Given the description of an element on the screen output the (x, y) to click on. 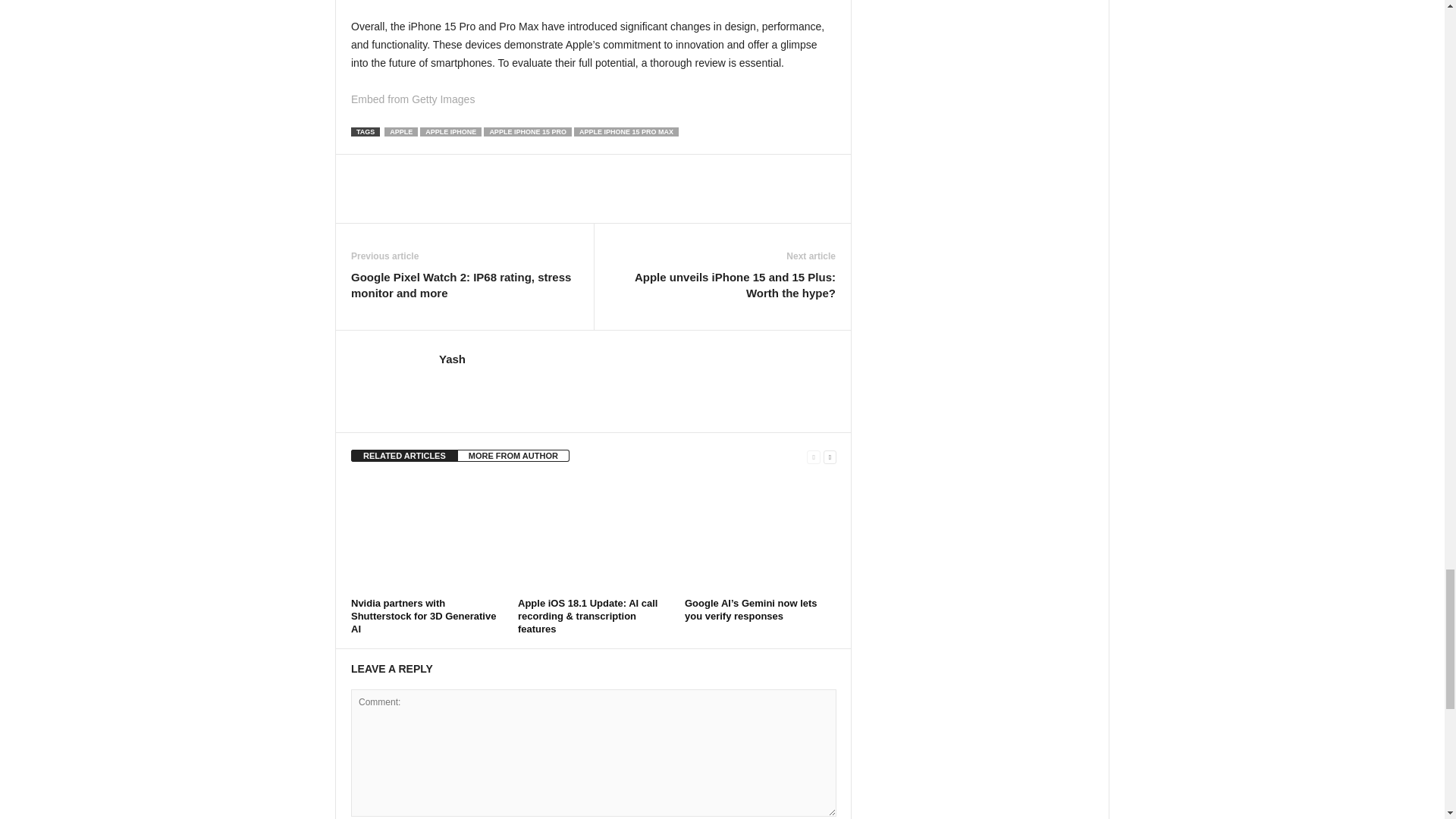
APPLE (400, 131)
APPLE IPHONE 15 PRO MAX (625, 131)
Embed from Getty Images (412, 99)
APPLE IPHONE (450, 131)
bottomFacebookLike (390, 170)
APPLE IPHONE 15 PRO (527, 131)
